Given the description of an element on the screen output the (x, y) to click on. 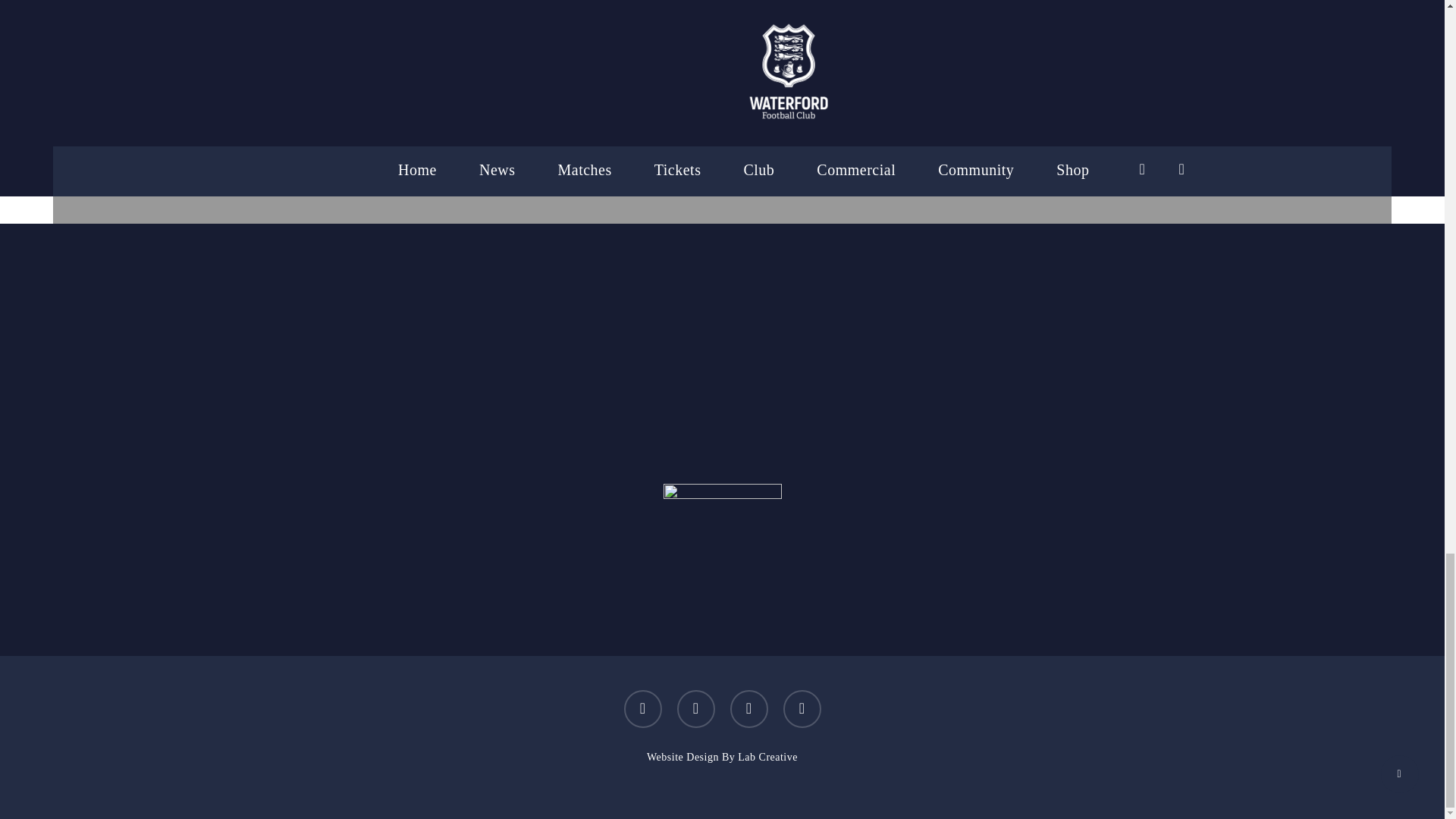
twitter (642, 709)
youtube (748, 709)
MATCH PREVIEW: Derry City v Waterford FC (722, 45)
facebook (695, 709)
instagram (802, 709)
